Given the description of an element on the screen output the (x, y) to click on. 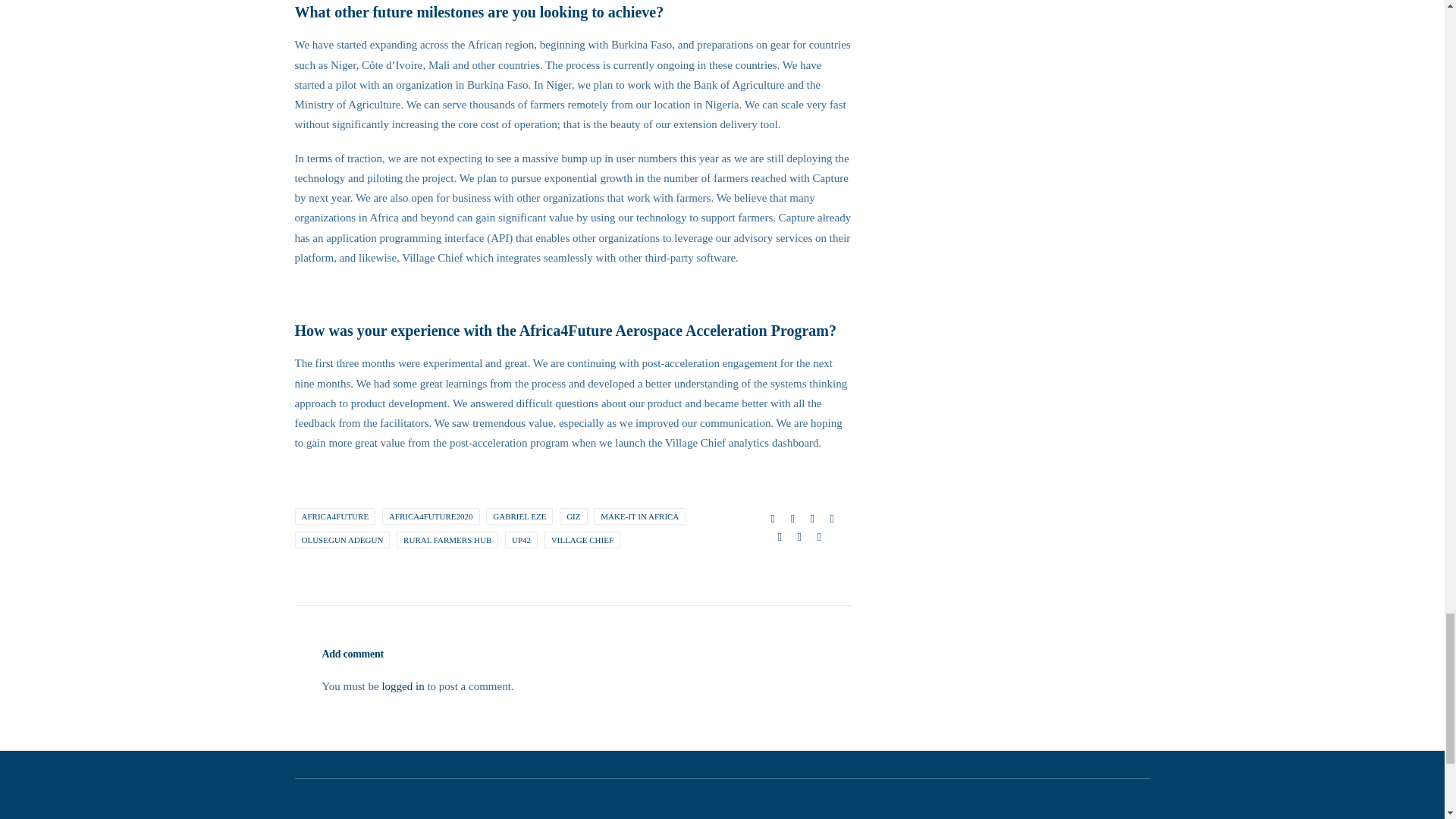
UP42 (521, 539)
AFRICA4FUTURE2020 (430, 515)
AFRICA4FUTURE (334, 515)
VILLAGE CHIEF (582, 539)
GABRIEL EZE (519, 515)
GIZ (572, 515)
OLUSEGUN ADEGUN (342, 539)
RURAL FARMERS HUB (446, 539)
MAKE-IT IN AFRICA (639, 515)
logged in (402, 686)
